Given the description of an element on the screen output the (x, y) to click on. 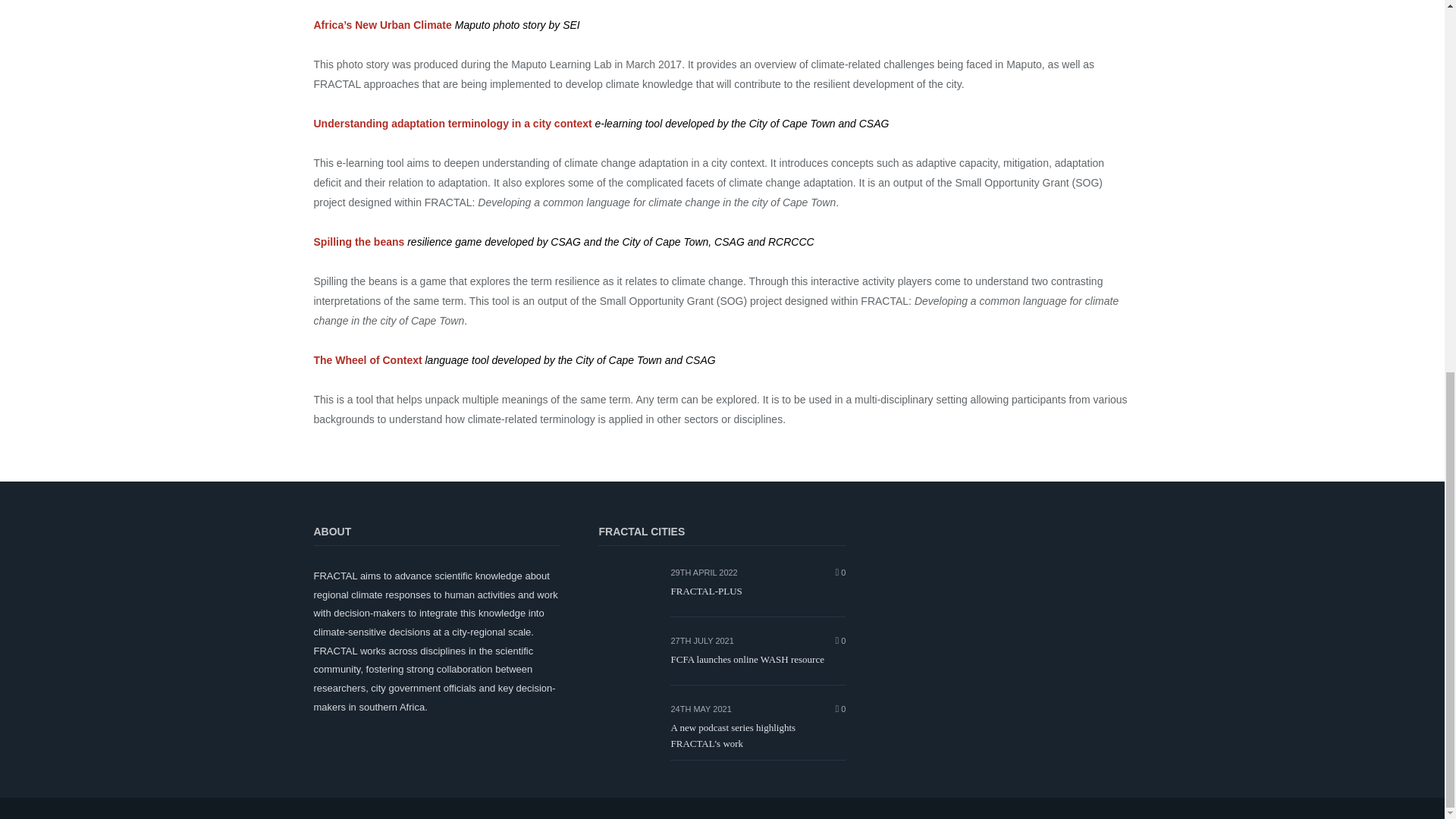
FCFA launches online WASH resource (757, 659)
FRACTAL-PLUS (757, 591)
